Given the description of an element on the screen output the (x, y) to click on. 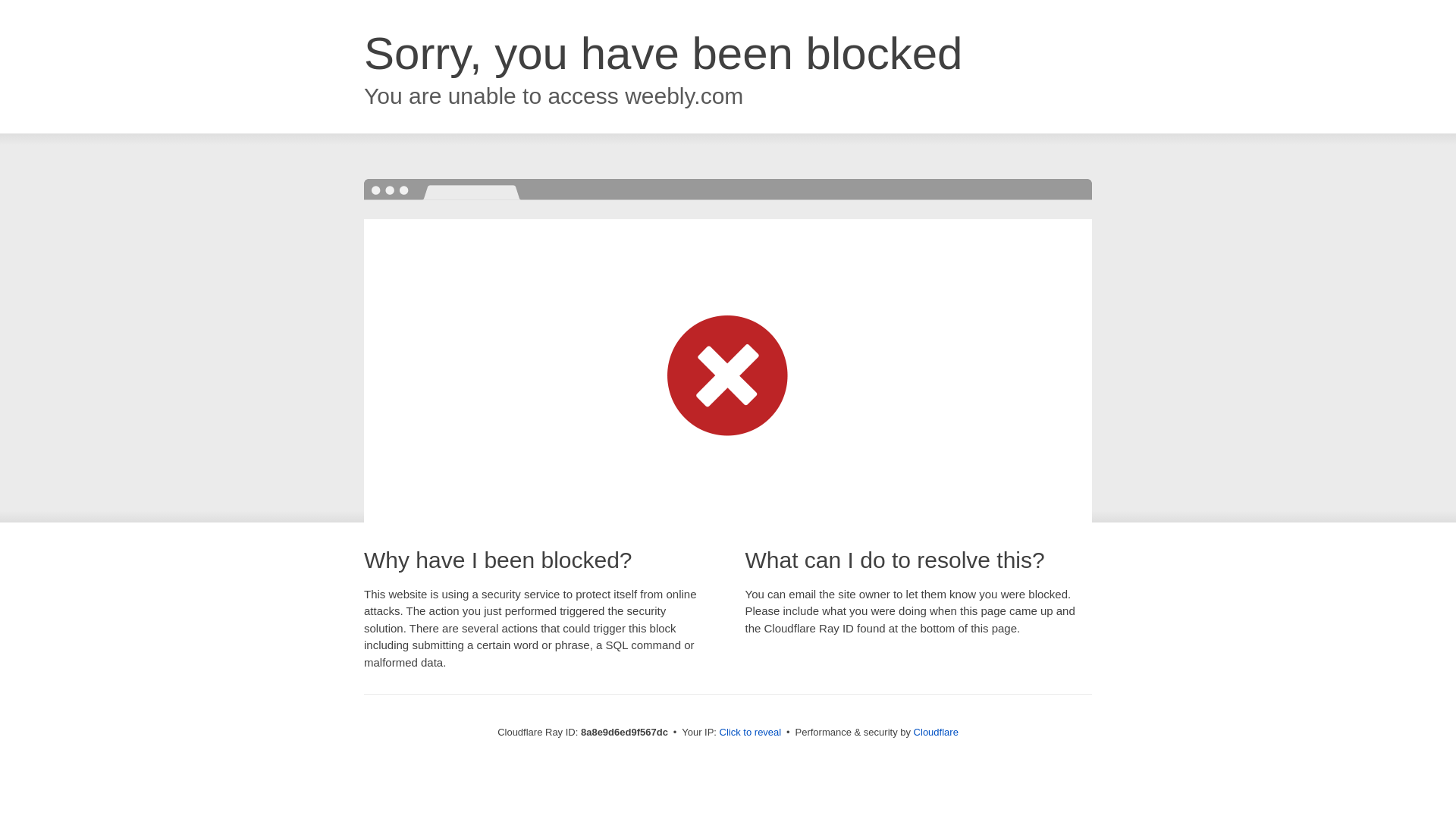
Cloudflare (936, 731)
Click to reveal (750, 732)
